Given the description of an element on the screen output the (x, y) to click on. 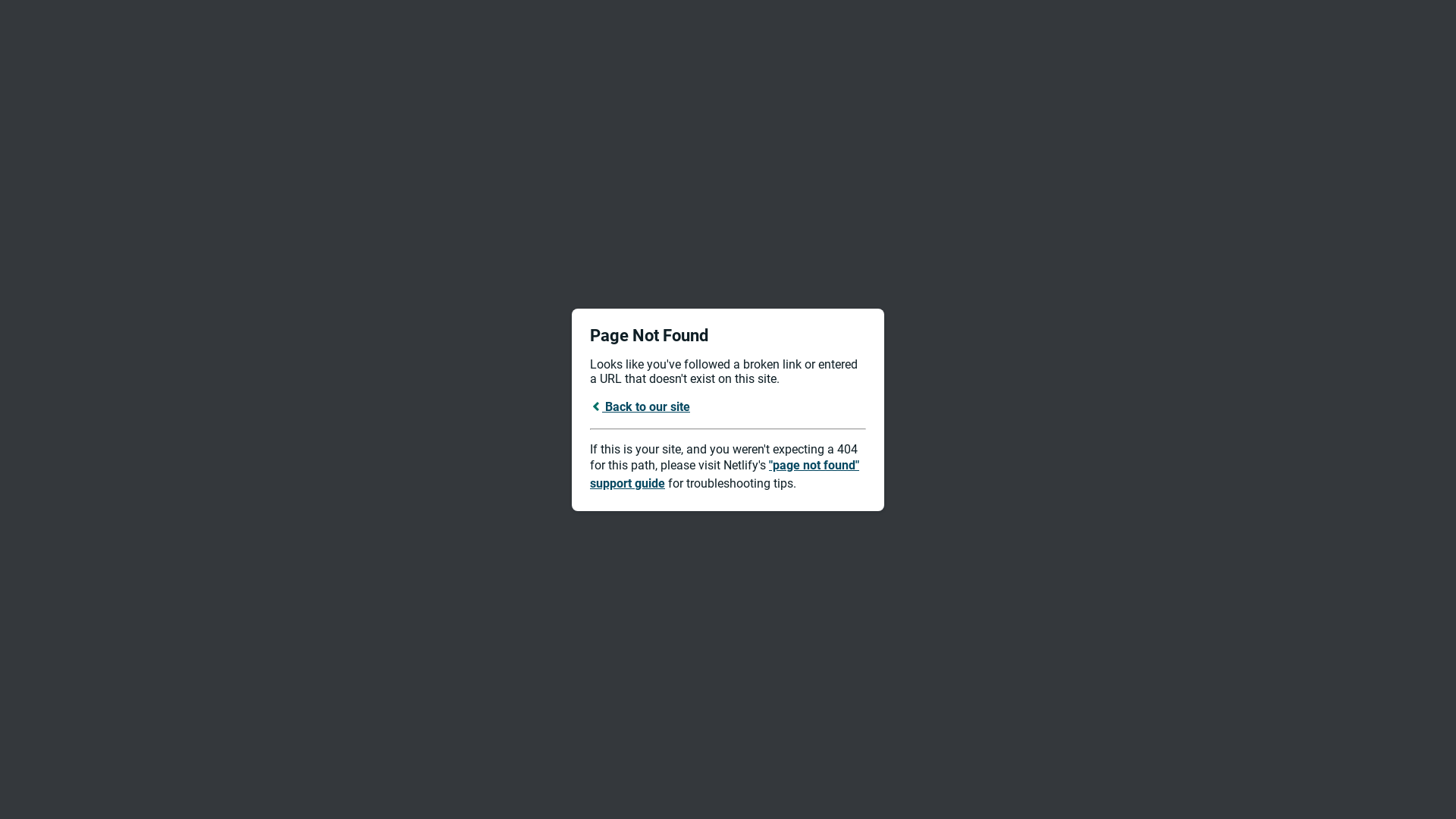
Back to our site Element type: text (639, 405)
"page not found" support guide Element type: text (724, 474)
